Given the description of an element on the screen output the (x, y) to click on. 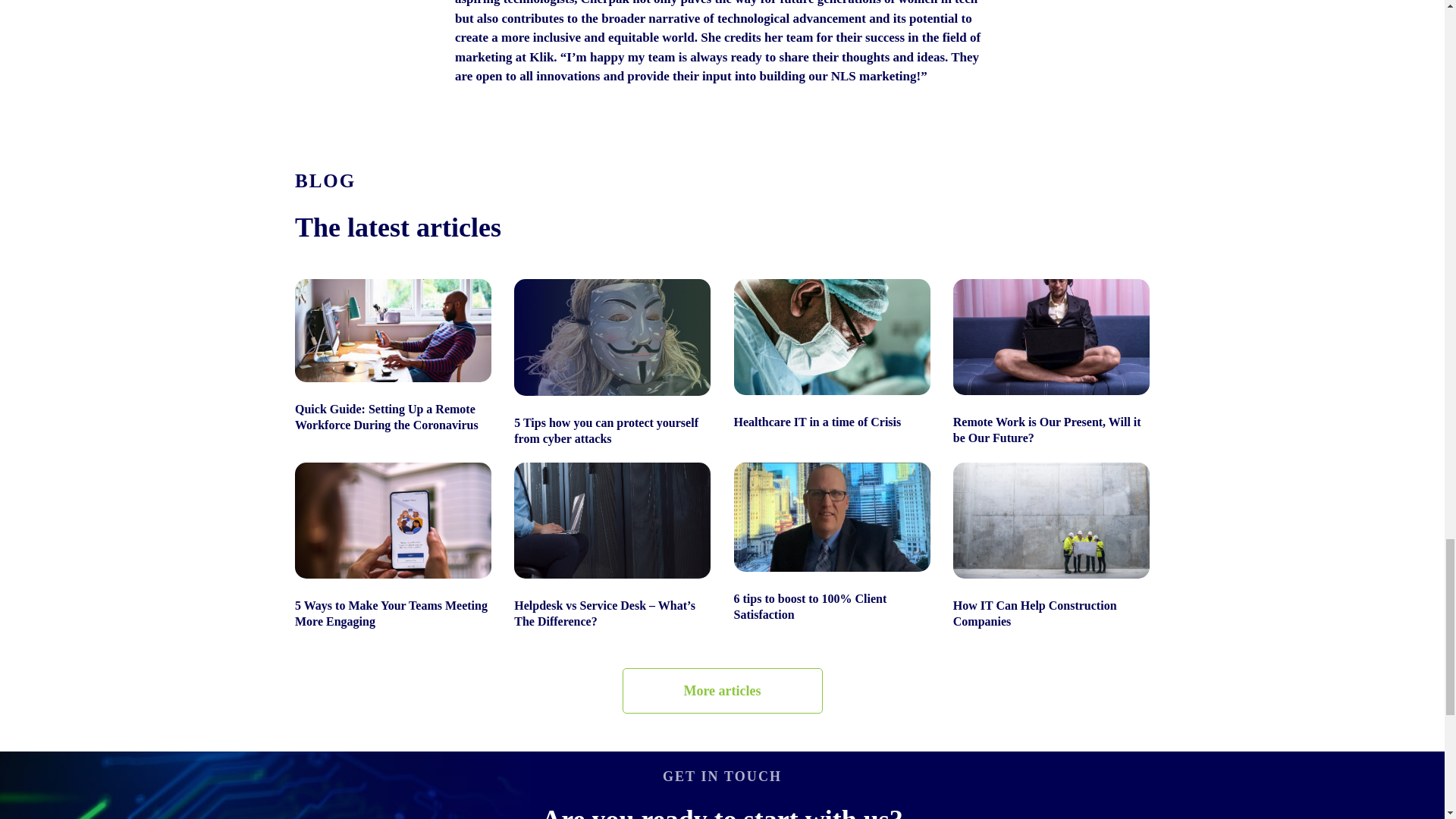
5 Tips how you can protect yourself from cyber attacks 7 (611, 337)
Remote Work is Our Present, Will it be Our Future? 9 (1051, 336)
Healthcare IT in a time of Crisis 8 (831, 336)
5 Ways to Make Your Teams Meeting More Engaging 10 (393, 520)
How IT Can Help Construction Companies 13 (1051, 520)
